Given the description of an element on the screen output the (x, y) to click on. 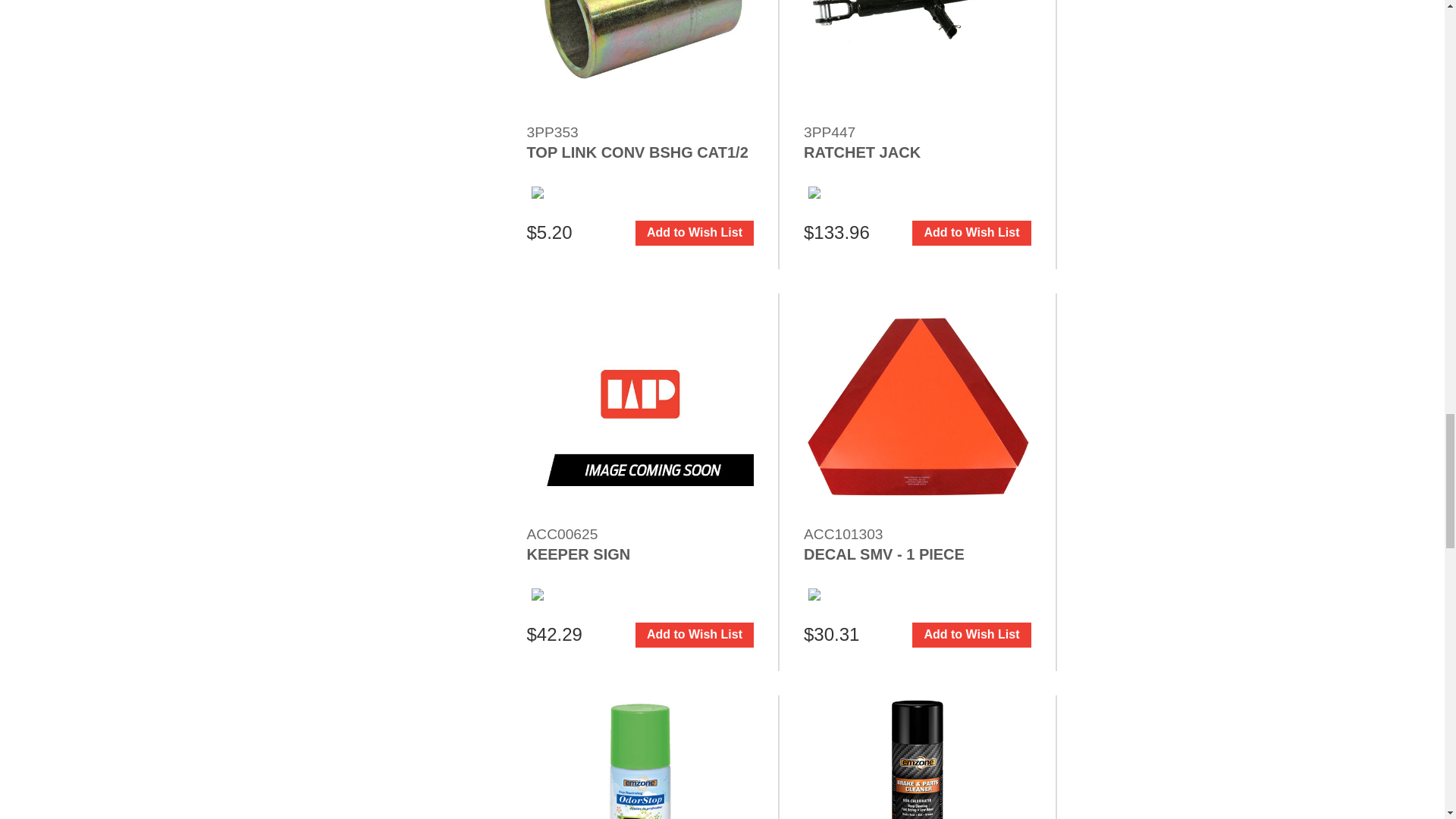
ODOR STOP VANILLA (639, 757)
BRAKE AND PARTS CLEANER (916, 757)
DECAL SMV - 1 PIECE (916, 406)
RATCHET JACK (916, 59)
KEEPER SIGN (639, 406)
